Given the description of an element on the screen output the (x, y) to click on. 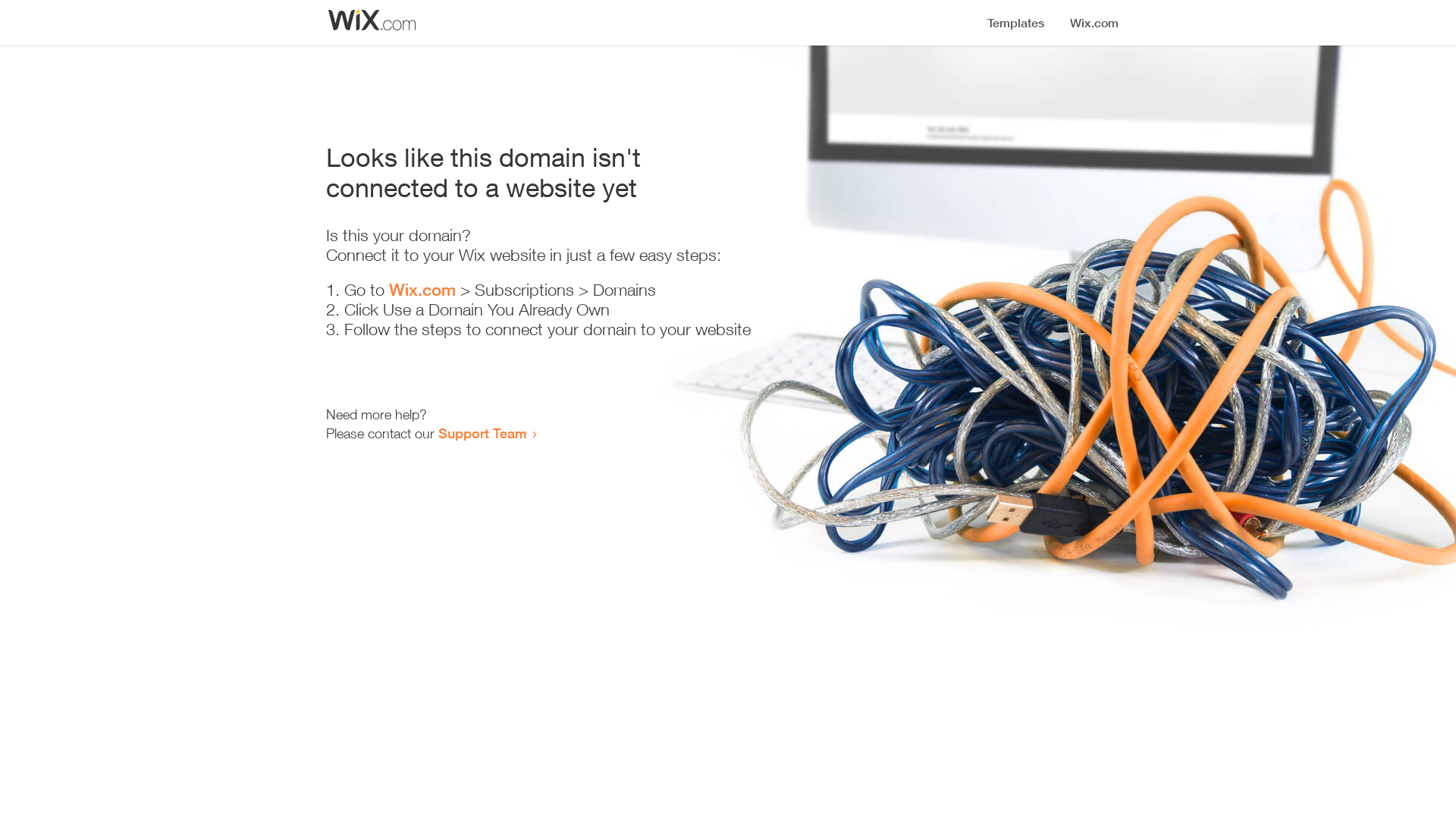
Support Team Element type: text (482, 432)
Wix.com Element type: text (422, 289)
